Given the description of an element on the screen output the (x, y) to click on. 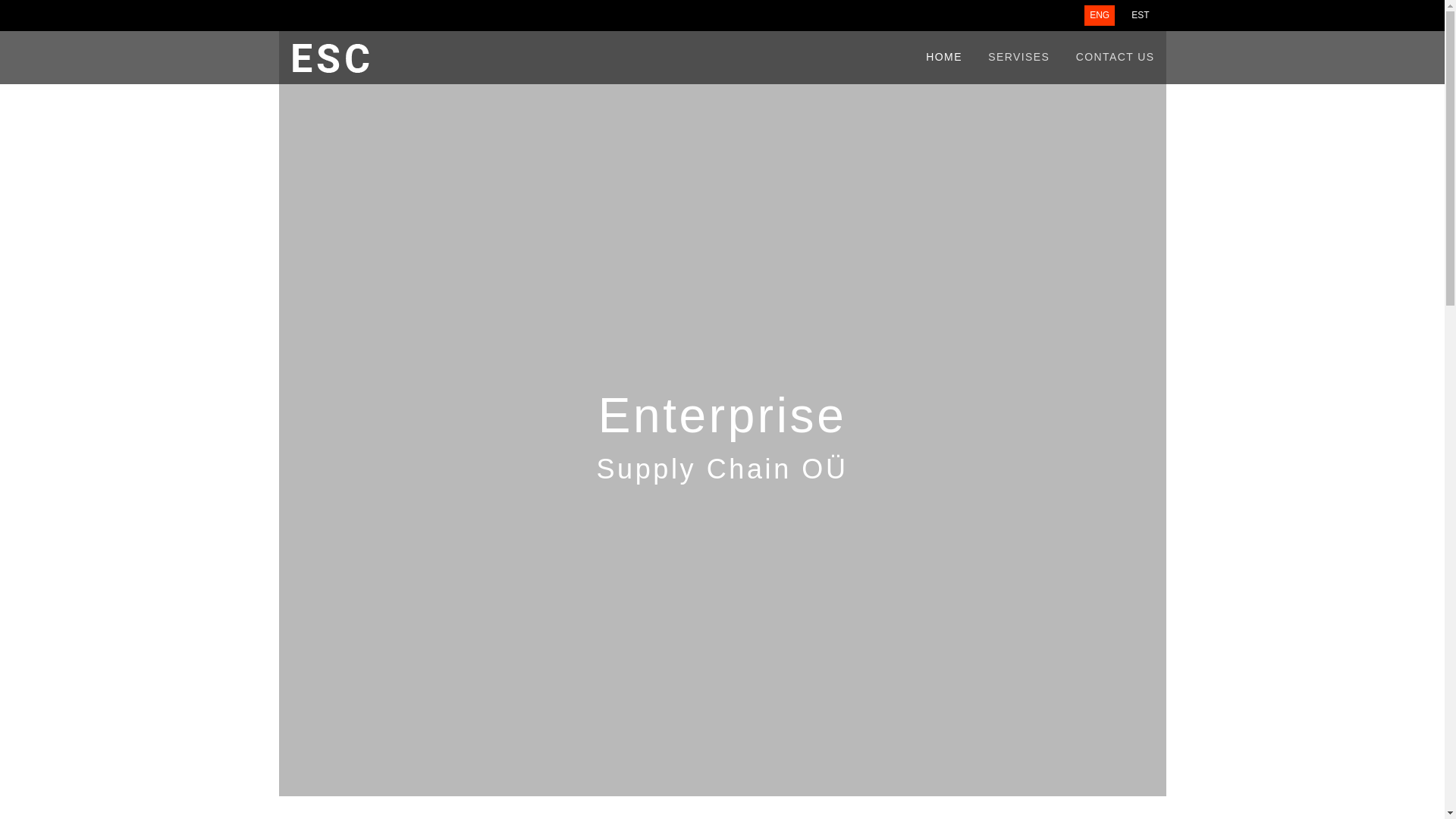
ET (1139, 14)
EN (1099, 14)
SERVISES (1018, 57)
CONTACT US (1114, 57)
